Given the description of an element on the screen output the (x, y) to click on. 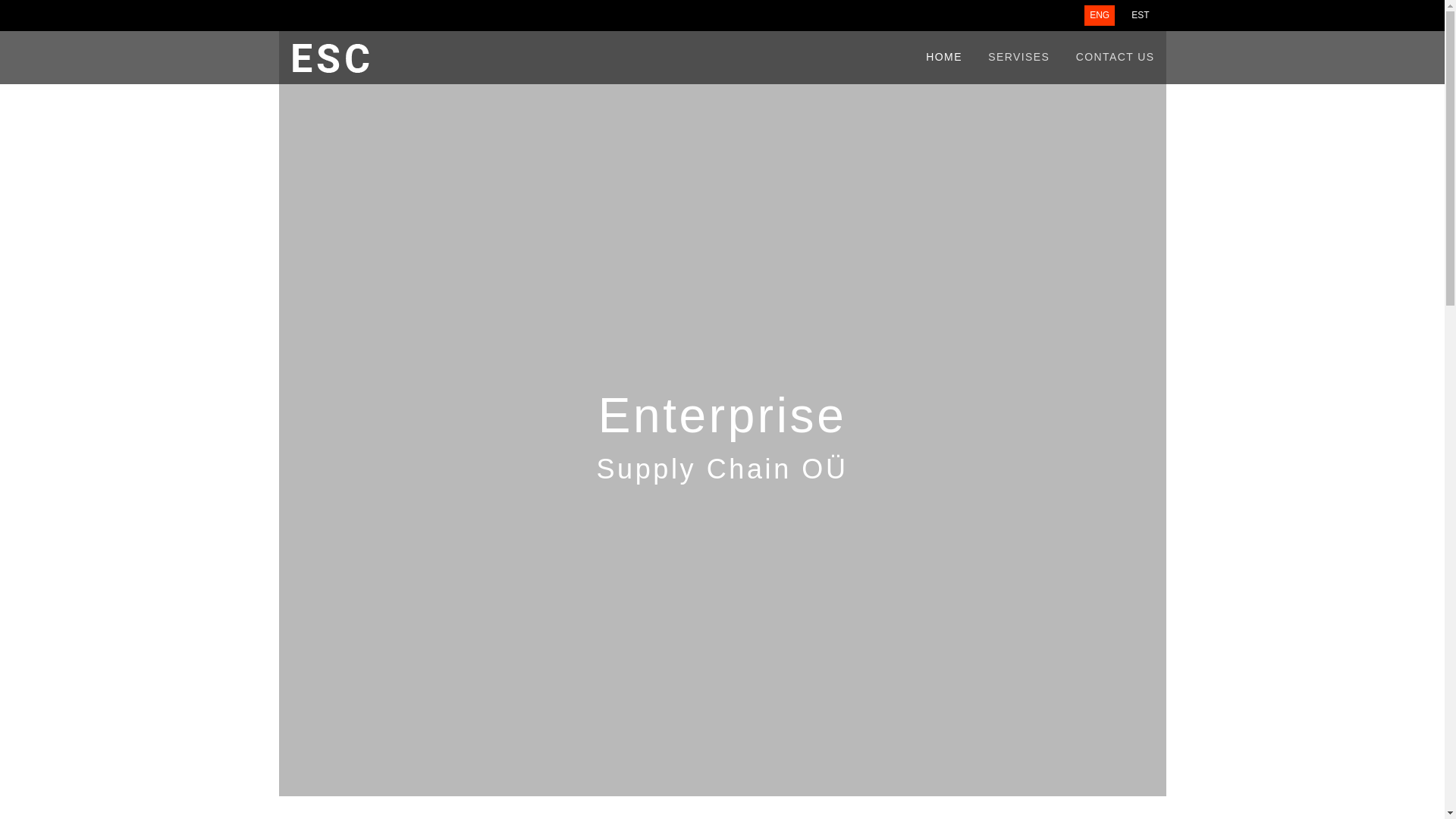
ET (1139, 14)
EN (1099, 14)
SERVISES (1018, 57)
CONTACT US (1114, 57)
